Given the description of an element on the screen output the (x, y) to click on. 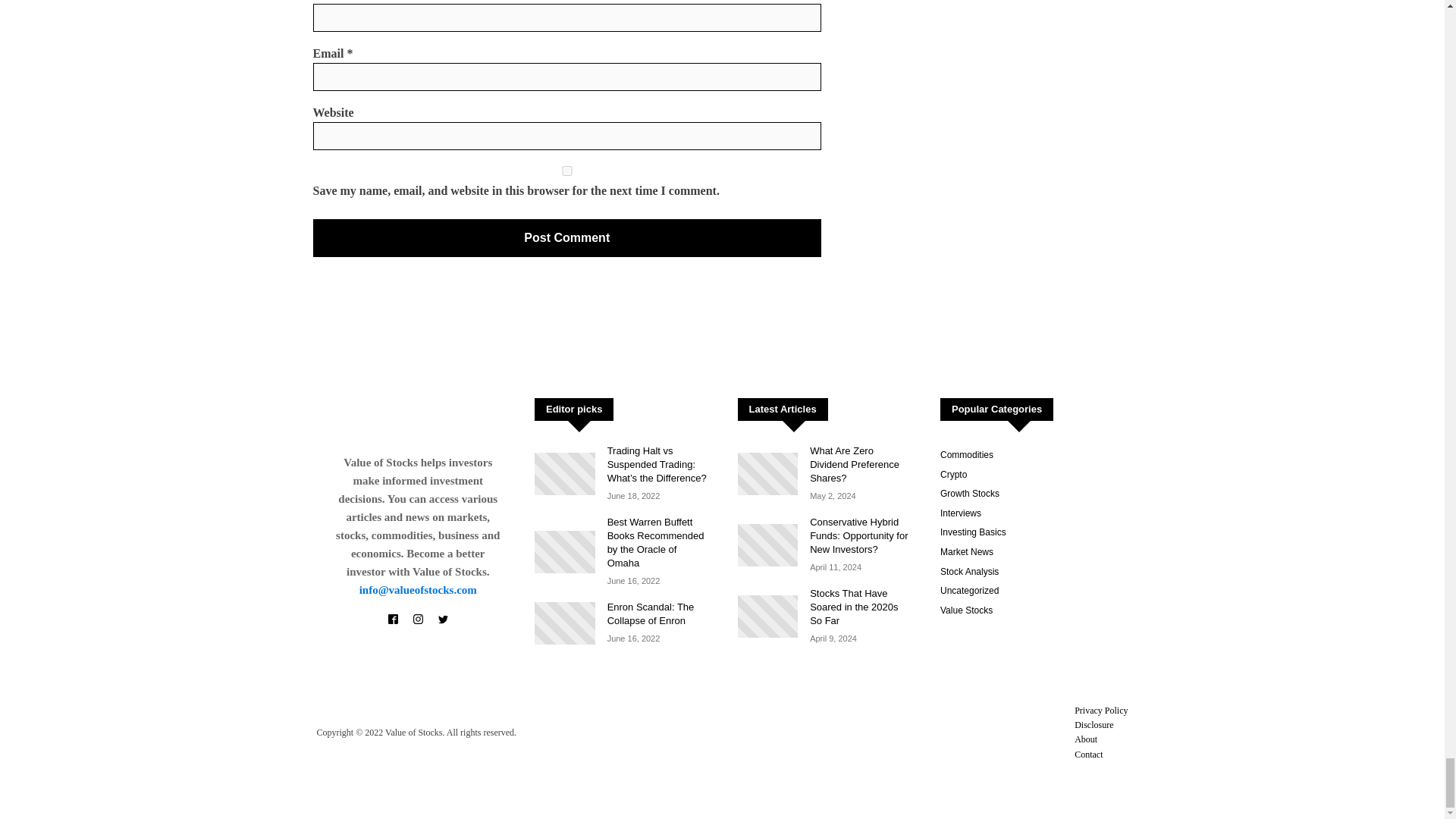
yes (567, 171)
Post Comment (567, 238)
